Given the description of an element on the screen output the (x, y) to click on. 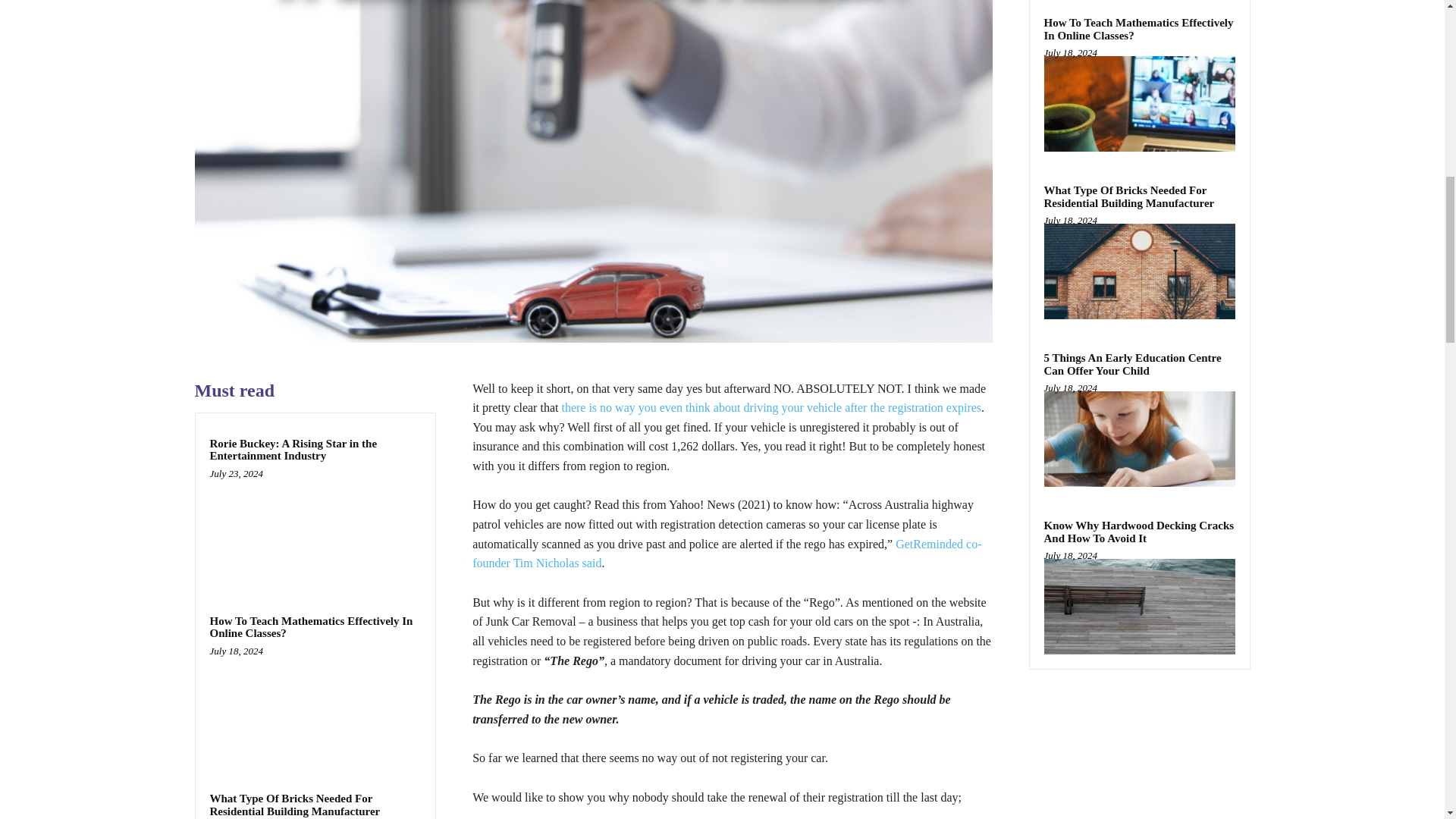
Rorie Buckey: A Rising Star in the Entertainment Industry (314, 529)
Rorie Buckey: A Rising Star in the Entertainment Industry (293, 449)
